Given the description of an element on the screen output the (x, y) to click on. 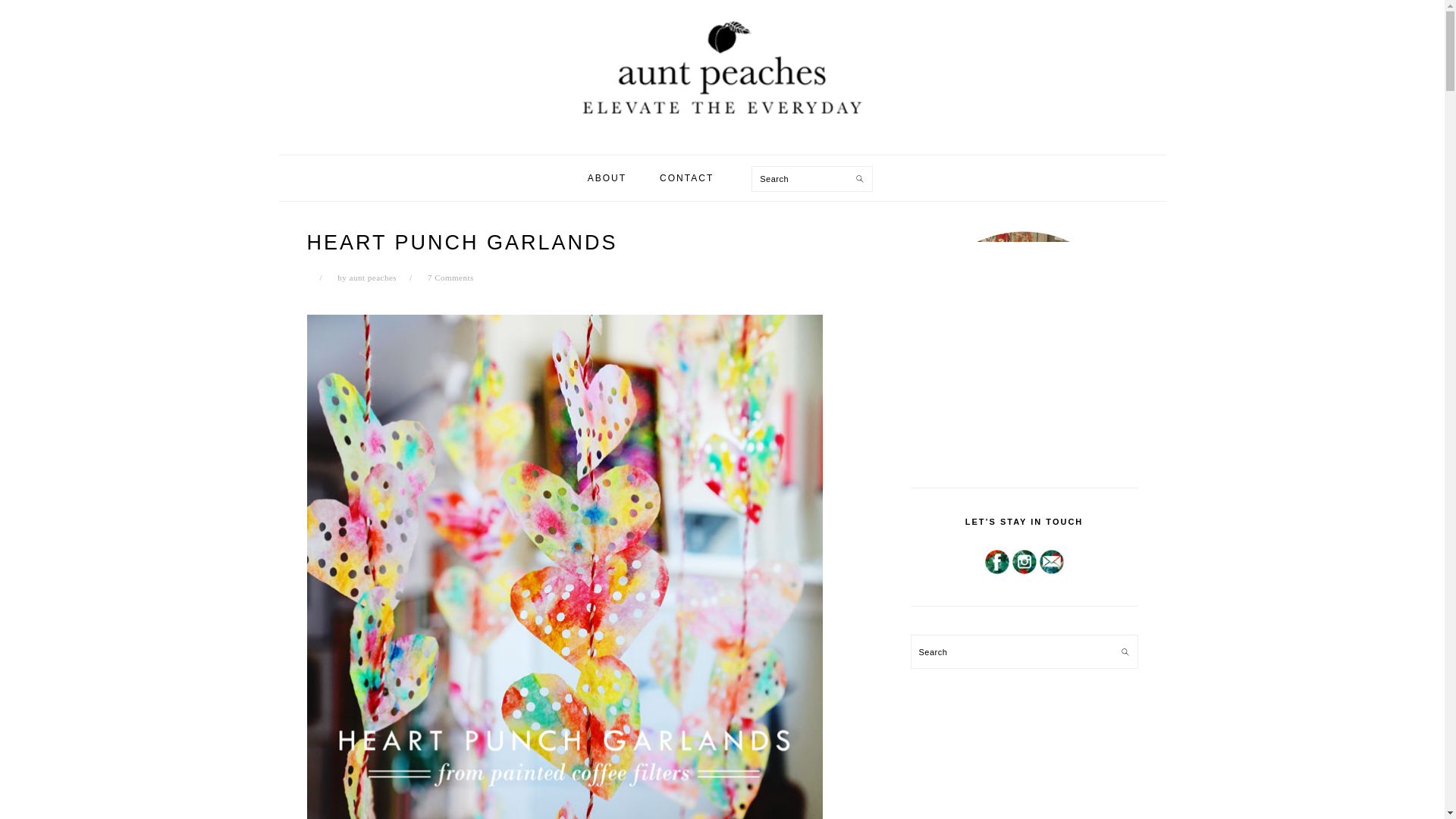
Email (1050, 561)
CONTACT (686, 177)
AUNT PEACHES (721, 77)
Facebook (996, 561)
Facebook (996, 572)
aunt peaches (373, 276)
7 Comments (451, 276)
